Given the description of an element on the screen output the (x, y) to click on. 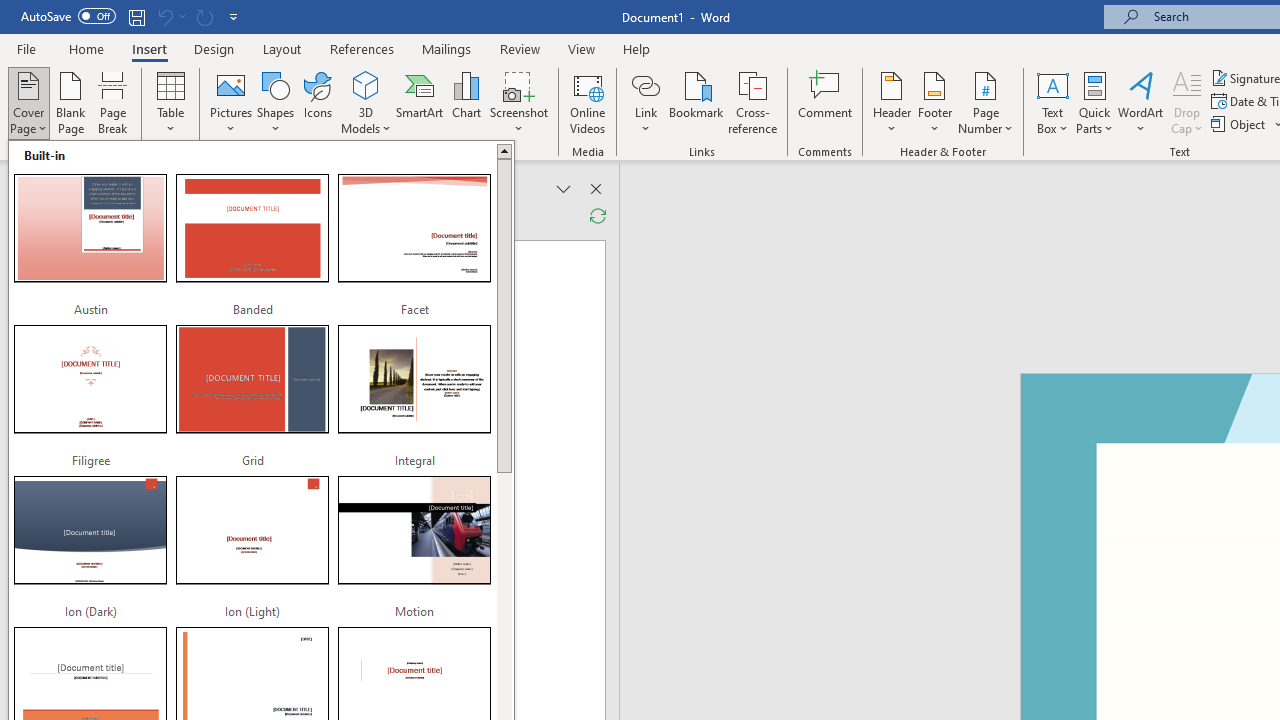
Can't Undo (164, 15)
Icons (317, 102)
Text Box (1052, 102)
WordArt (1141, 102)
Cross-reference... (752, 102)
3D Models (366, 84)
Cover Page (28, 102)
